Given the description of an element on the screen output the (x, y) to click on. 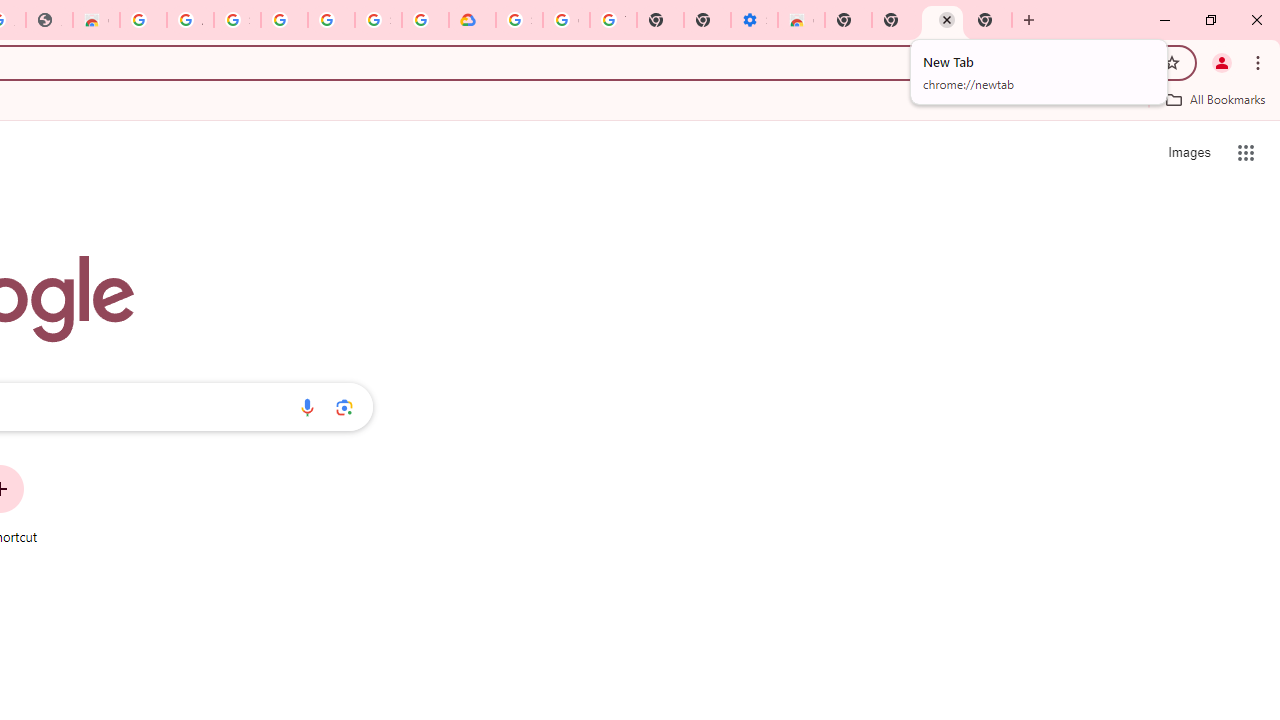
Sign in - Google Accounts (237, 20)
Chrome Web Store - Accessibility extensions (801, 20)
Settings - Accessibility (754, 20)
New Tab (989, 20)
